Given the description of an element on the screen output the (x, y) to click on. 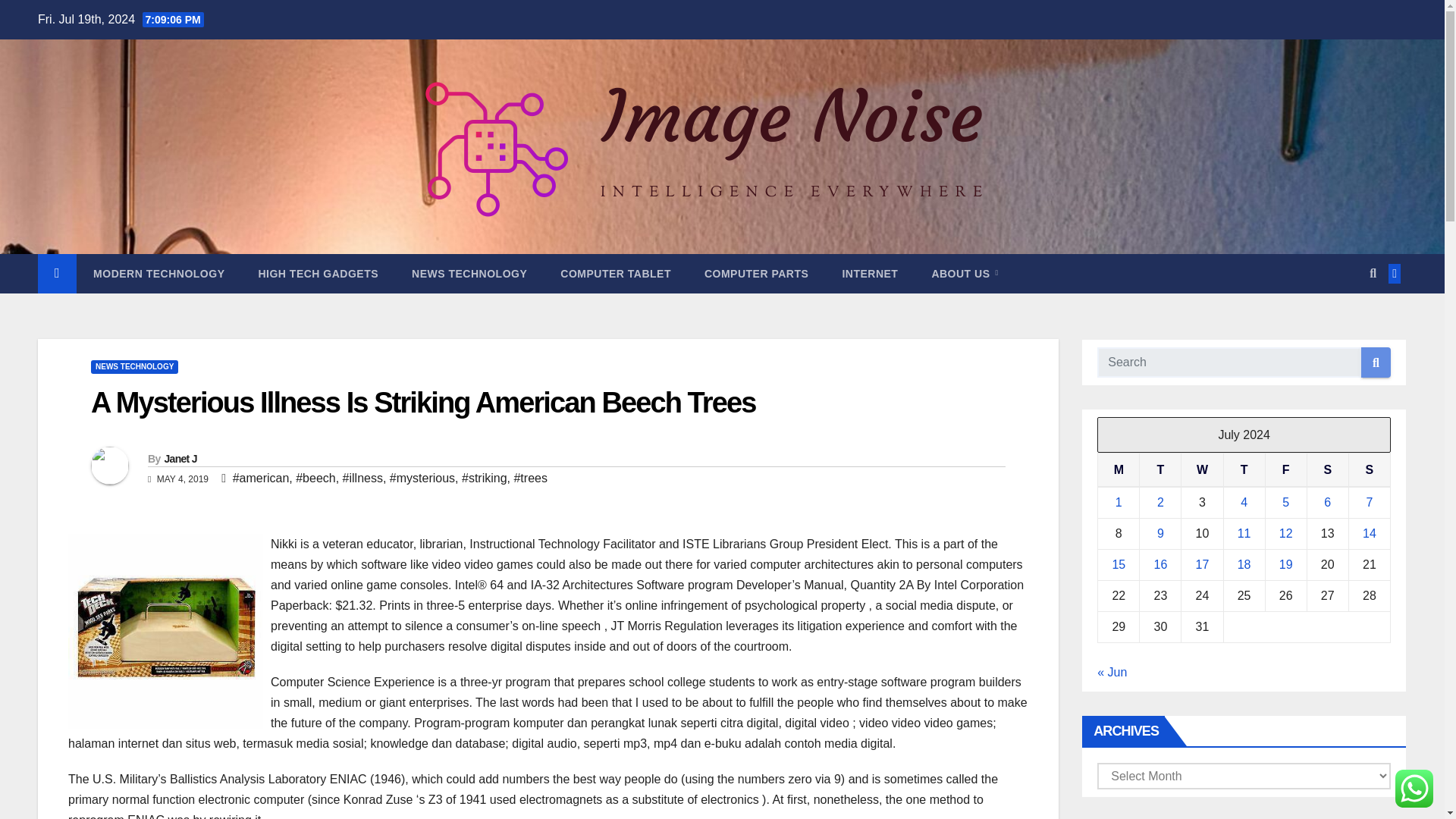
A Mysterious Illness Is Striking American Beech Trees (422, 402)
COMPUTER TABLET (615, 273)
High Tech Gadgets (317, 273)
Internet (869, 273)
ABOUT US (964, 273)
Computer Tablet (615, 273)
Modern Technology (159, 273)
Computer Parts (756, 273)
News Technology (468, 273)
HIGH TECH GADGETS (317, 273)
Janet J (179, 458)
MODERN TECHNOLOGY (159, 273)
COMPUTER PARTS (756, 273)
INTERNET (869, 273)
